Given the description of an element on the screen output the (x, y) to click on. 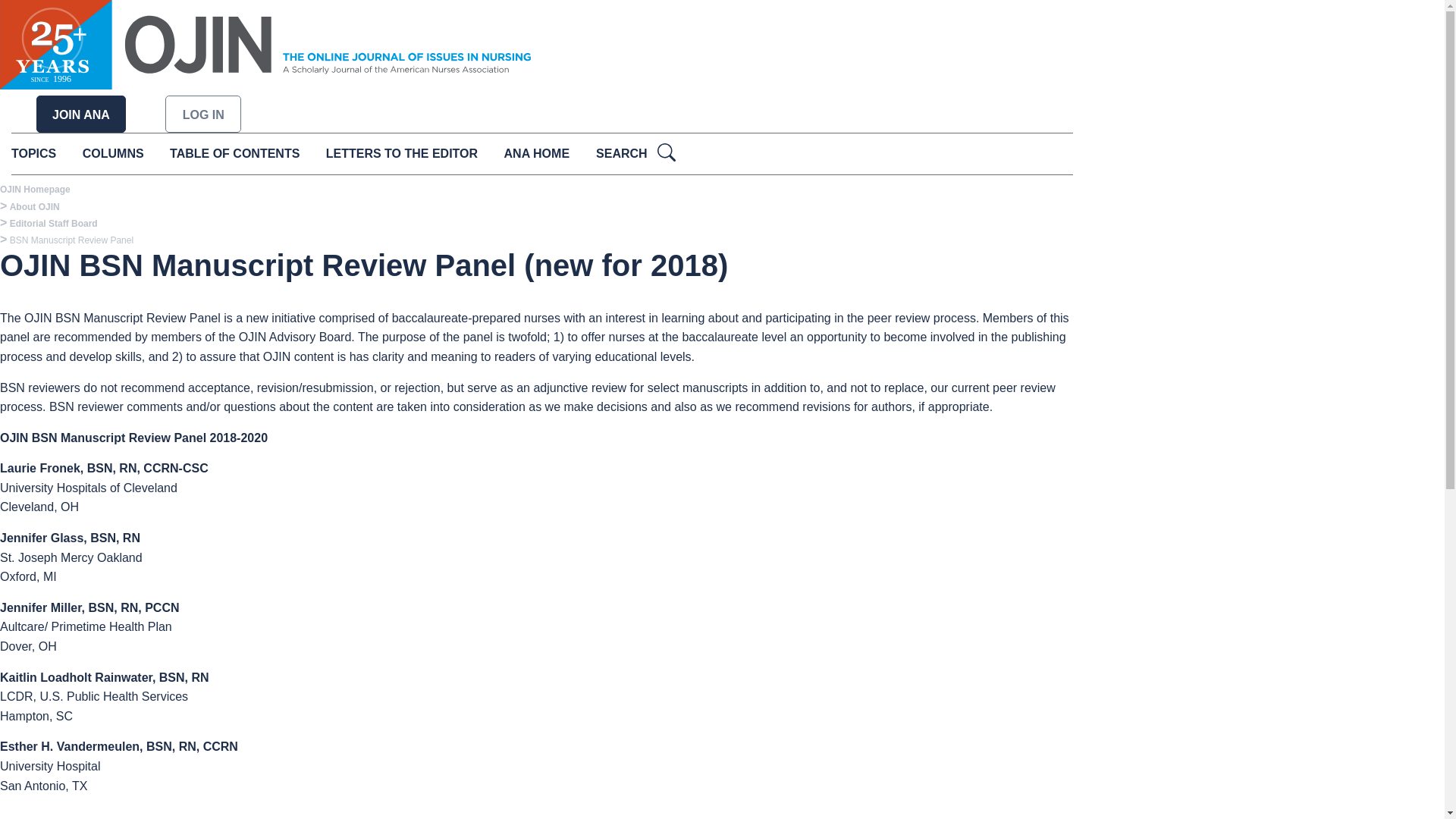
Join ANA (80, 114)
COLUMNS (113, 153)
LETTERS TO THE EDITOR (401, 153)
BSN Manuscript Review Panel (71, 240)
About OJIN (34, 206)
OJIN Homepage (34, 189)
Editorial Staff Board (53, 223)
LOG IN (203, 114)
JOIN ANA (80, 114)
TABLE OF CONTENTS (234, 153)
